Given the description of an element on the screen output the (x, y) to click on. 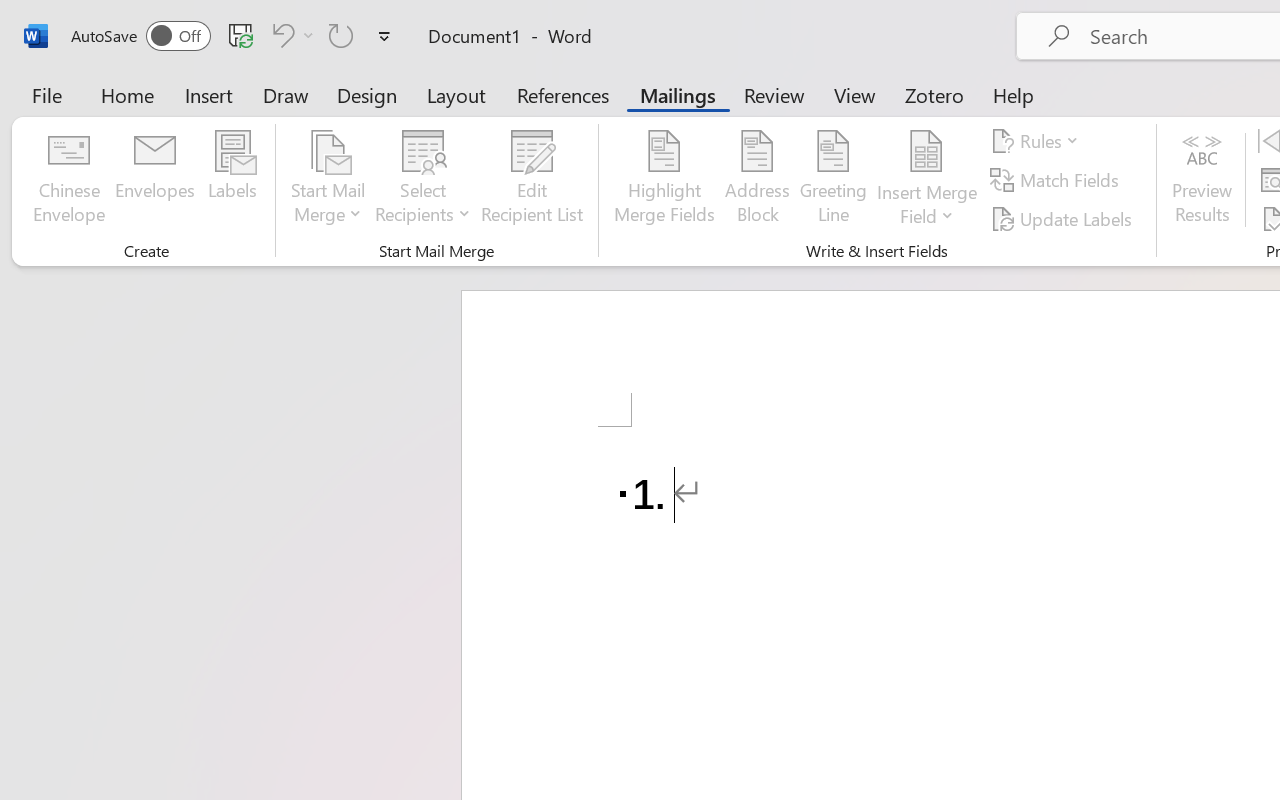
Insert Merge Field (927, 179)
Update Labels (1064, 218)
Address Block... (757, 179)
Preview Results (1202, 179)
Highlight Merge Fields (664, 179)
Undo Number Default (290, 35)
